Given the description of an element on the screen output the (x, y) to click on. 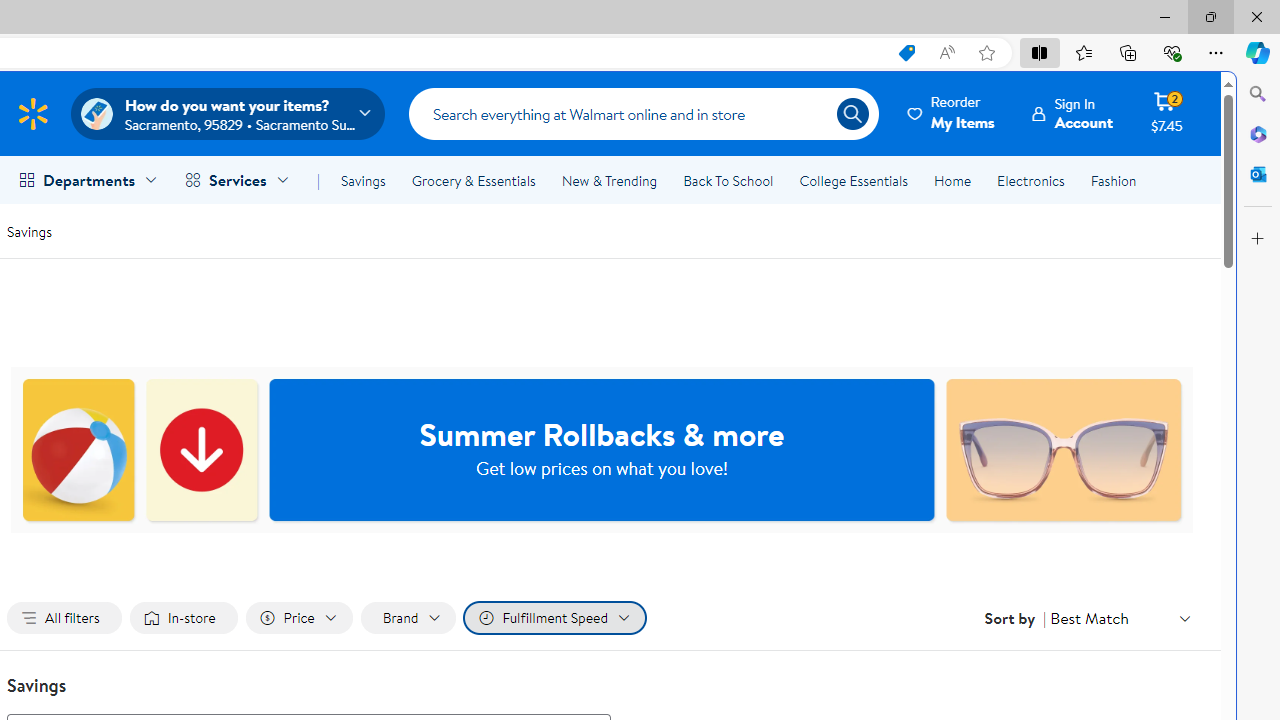
This site has coupons! Shopping in Microsoft Edge, 7 (906, 53)
Cart contains 2 items Total Amount $7.45 (1166, 113)
College Essentials (852, 180)
Grocery & Essentials (473, 180)
Filter by Fulfillment Speed not applied, activate to change (554, 618)
All filters none applied, activate to change (63, 618)
Class: ld ld-ChevronDown pa0 ml6 (1184, 618)
New & Trending (608, 180)
Sign In Account (1072, 113)
